Given the description of an element on the screen output the (x, y) to click on. 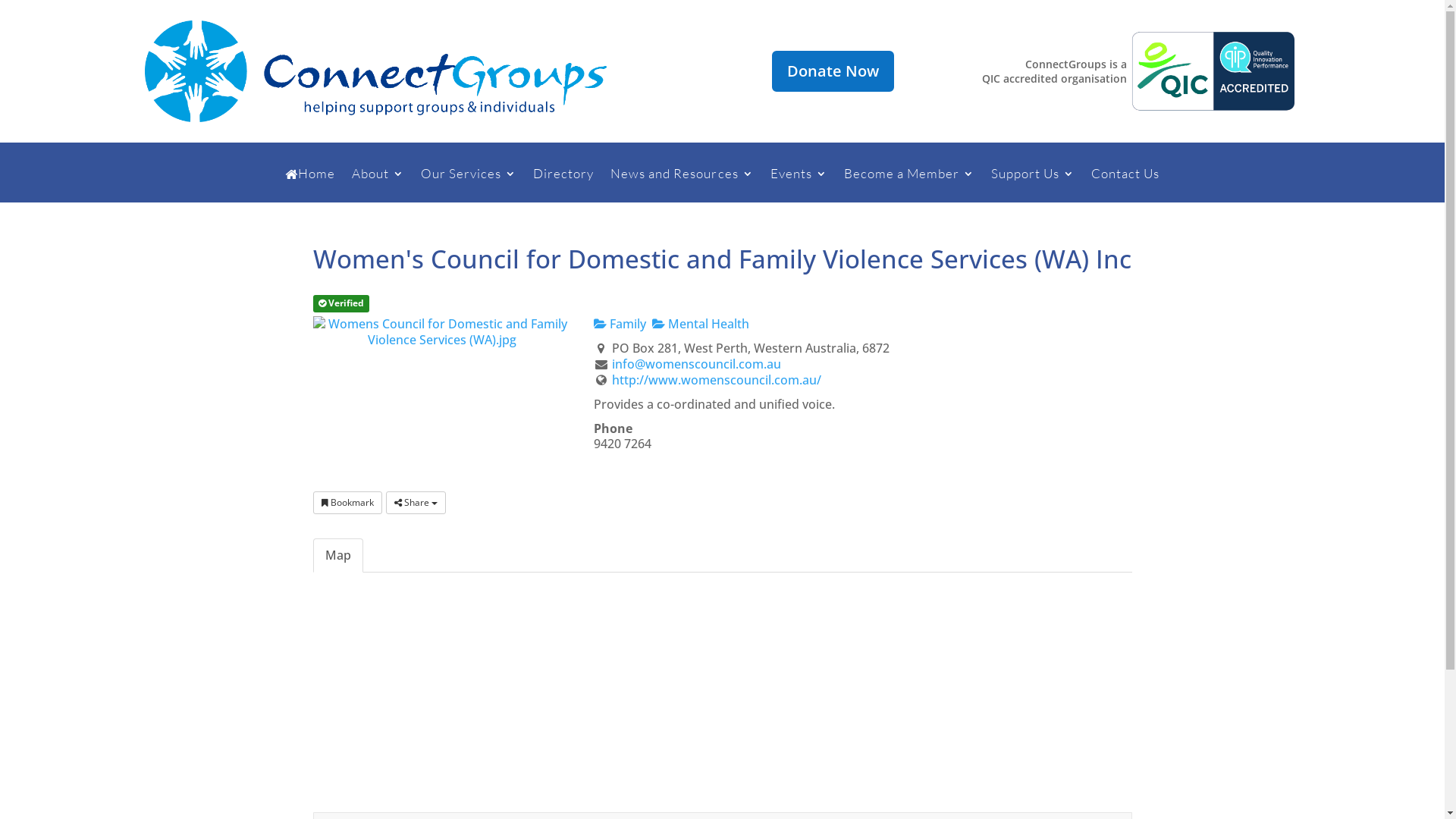
Bookmark Element type: text (346, 502)
Mental Health Element type: text (700, 323)
Our Services Element type: text (468, 184)
info@womenscouncil.com.au Element type: text (696, 363)
Home Element type: text (310, 184)
ConnectGroupslogo-TRansp Element type: hover (375, 71)
Events Element type: text (798, 184)
Family Element type: text (619, 323)
Donate Now Element type: text (832, 71)
News and Resources Element type: text (681, 184)
Map Element type: text (337, 555)
Share Element type: text (415, 502)
Support Us Element type: text (1032, 184)
Become a Member Element type: text (909, 184)
About Element type: text (377, 184)
Directory Element type: text (563, 184)
Contact Us Element type: text (1125, 184)
http://www.womenscouncil.com.au/ Element type: text (716, 379)
